Given the description of an element on the screen output the (x, y) to click on. 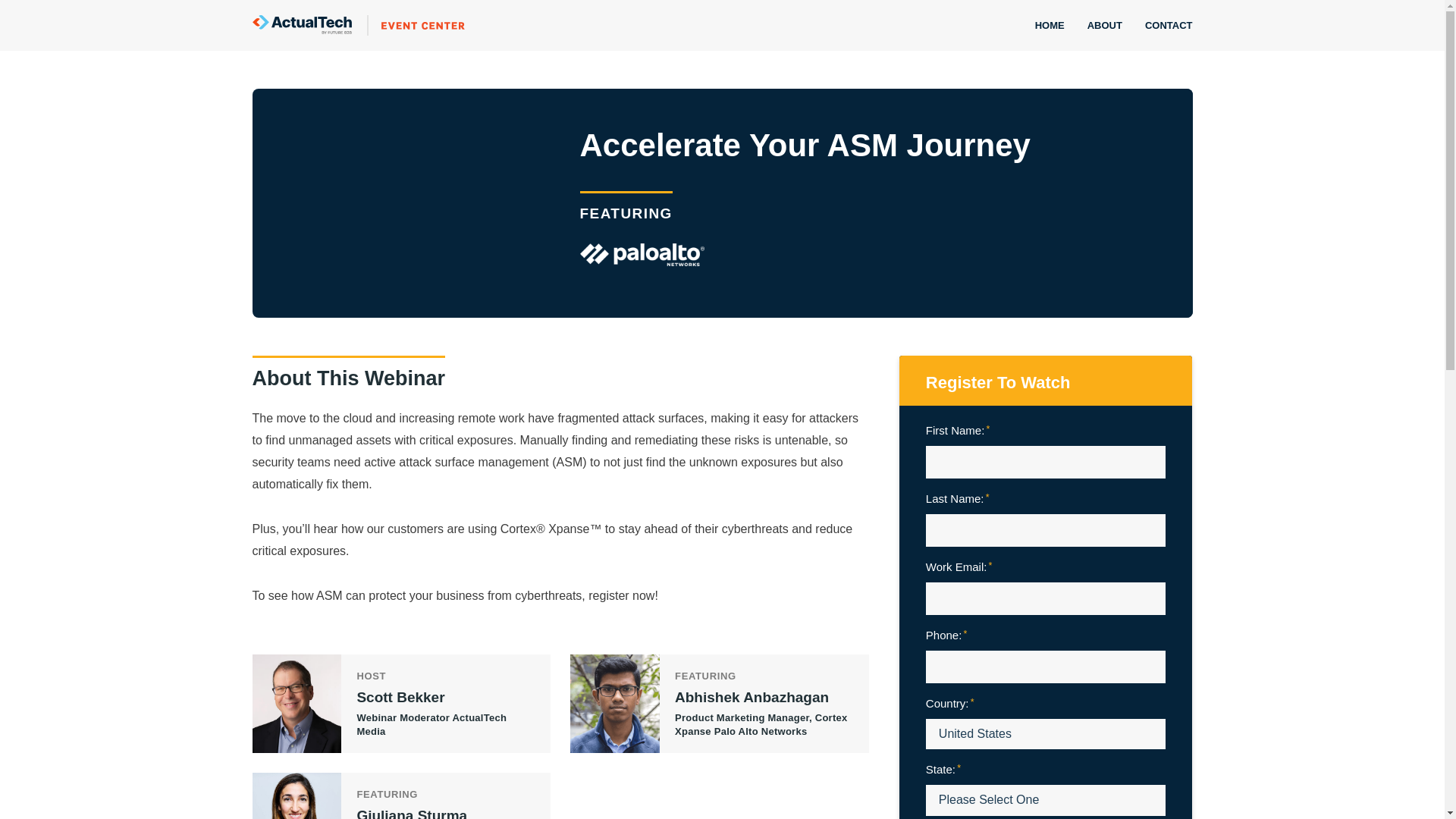
ABOUT (1104, 25)
Return to the ActualTech Media Event Center Home Page (357, 25)
HOME (1049, 25)
CONTACT (1163, 25)
United States (1046, 734)
Please Select One (1046, 799)
ActualTech Media (357, 25)
